Given the description of an element on the screen output the (x, y) to click on. 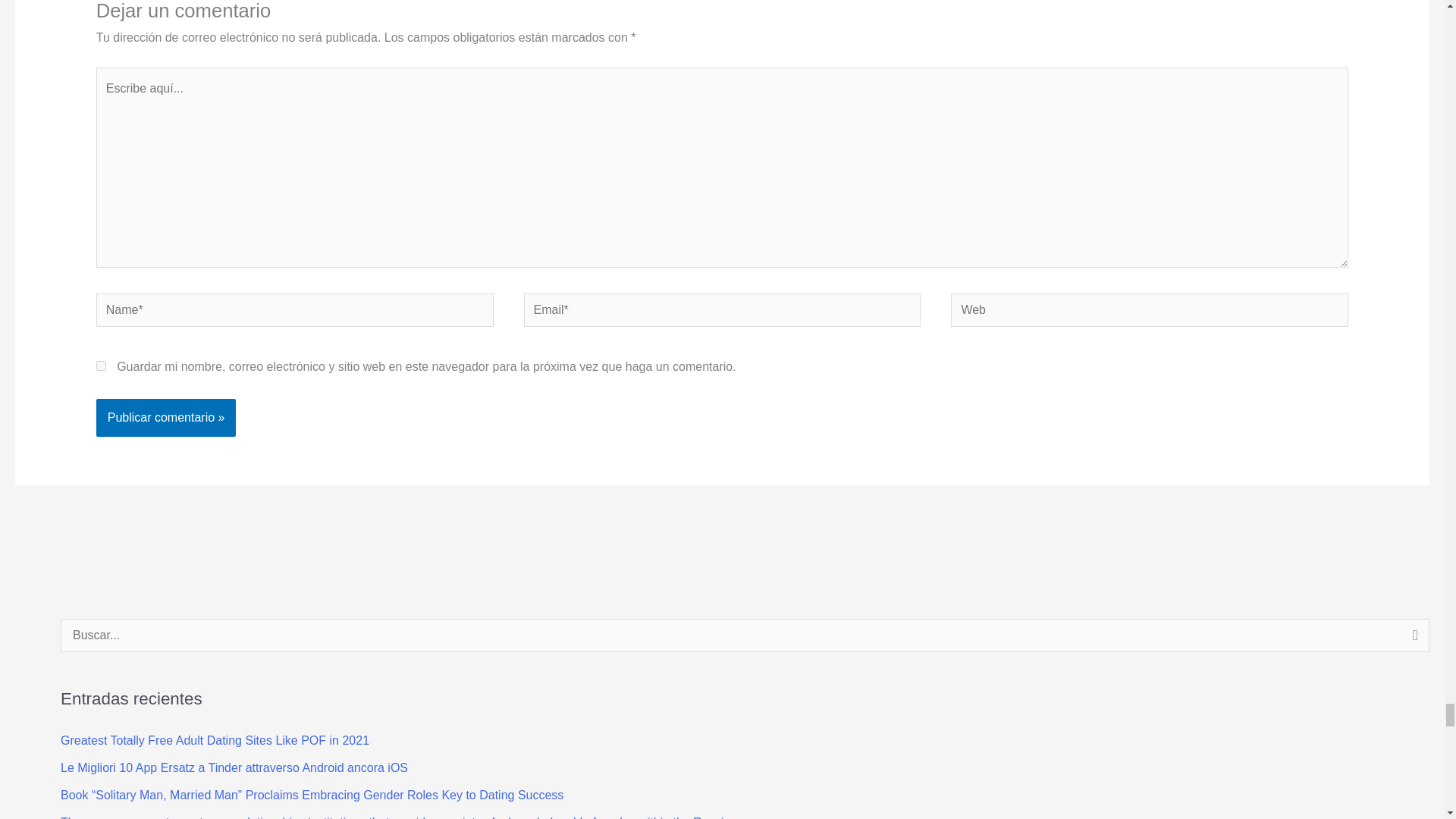
yes (101, 366)
